Given the description of an element on the screen output the (x, y) to click on. 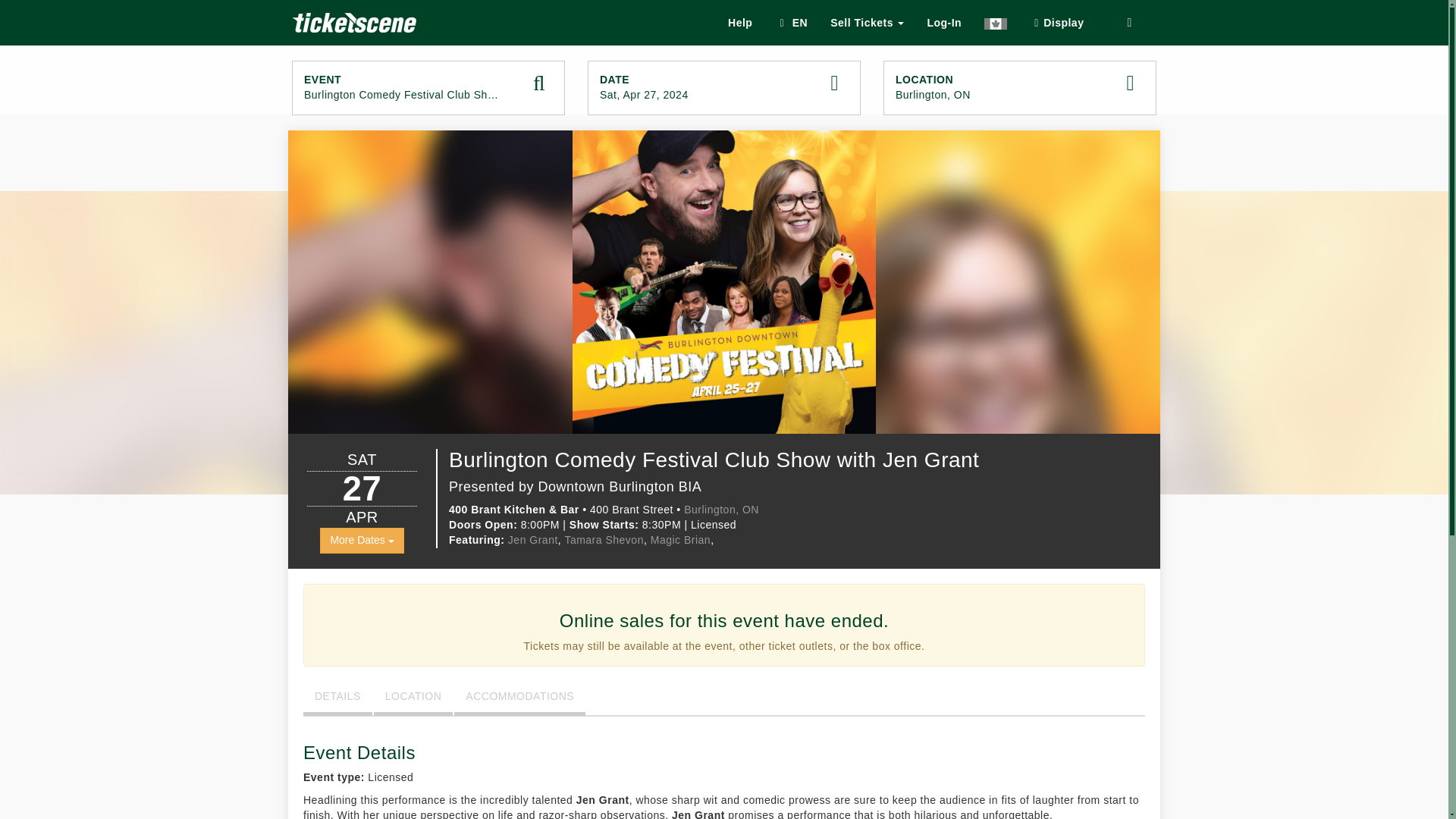
Display (1055, 22)
Jen Grant (532, 539)
Magic Brian Events and Tour Dates (680, 539)
Help (1019, 87)
Sell Tickets (739, 22)
Tamara Shevon (866, 22)
Tamara Shevon Events and Tour Dates (603, 539)
EN (603, 539)
Burlington Events (790, 22)
